Given the description of an element on the screen output the (x, y) to click on. 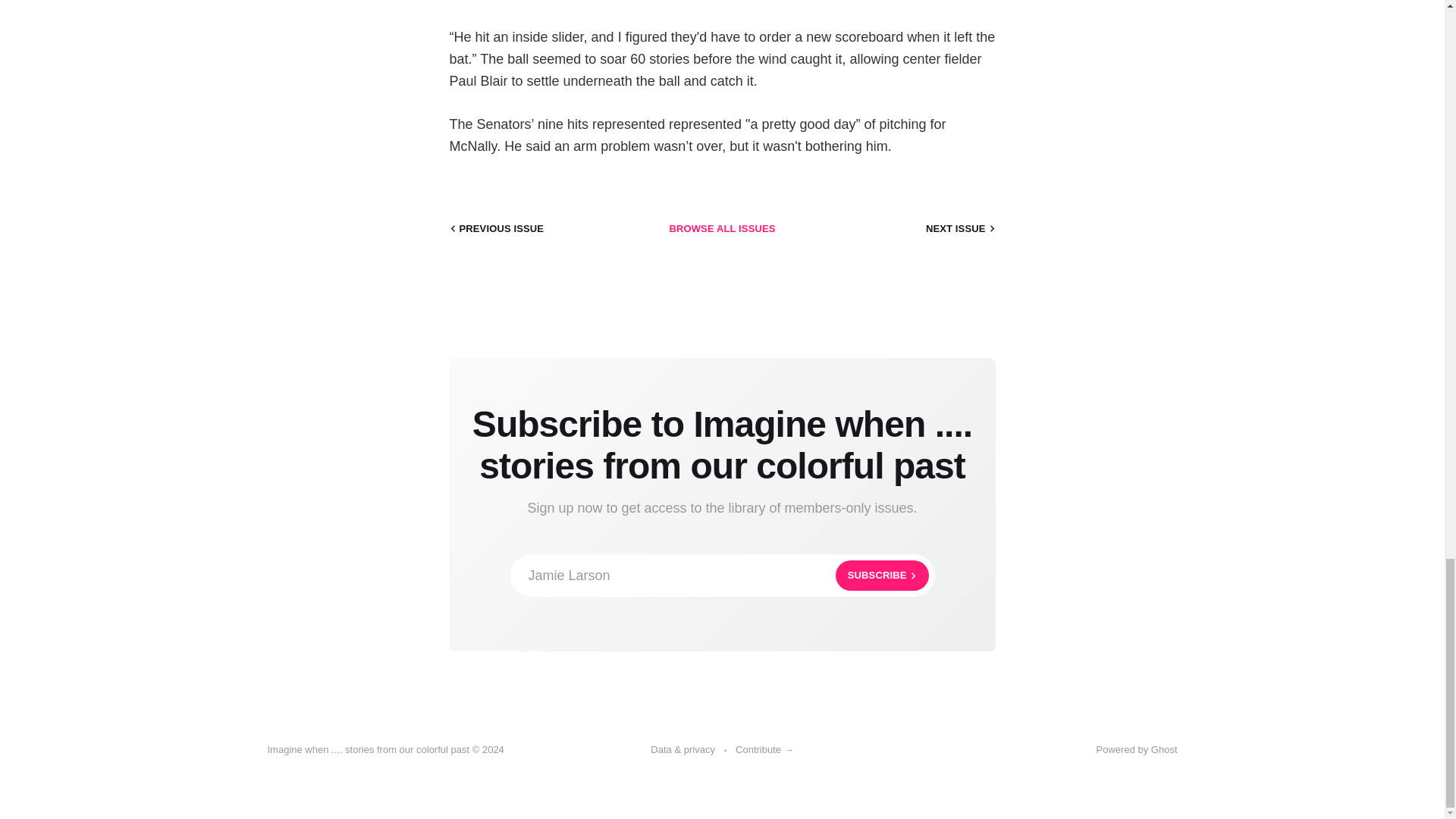
Powered by Ghost (494, 228)
BROWSE ALL ISSUES (962, 228)
